Given the description of an element on the screen output the (x, y) to click on. 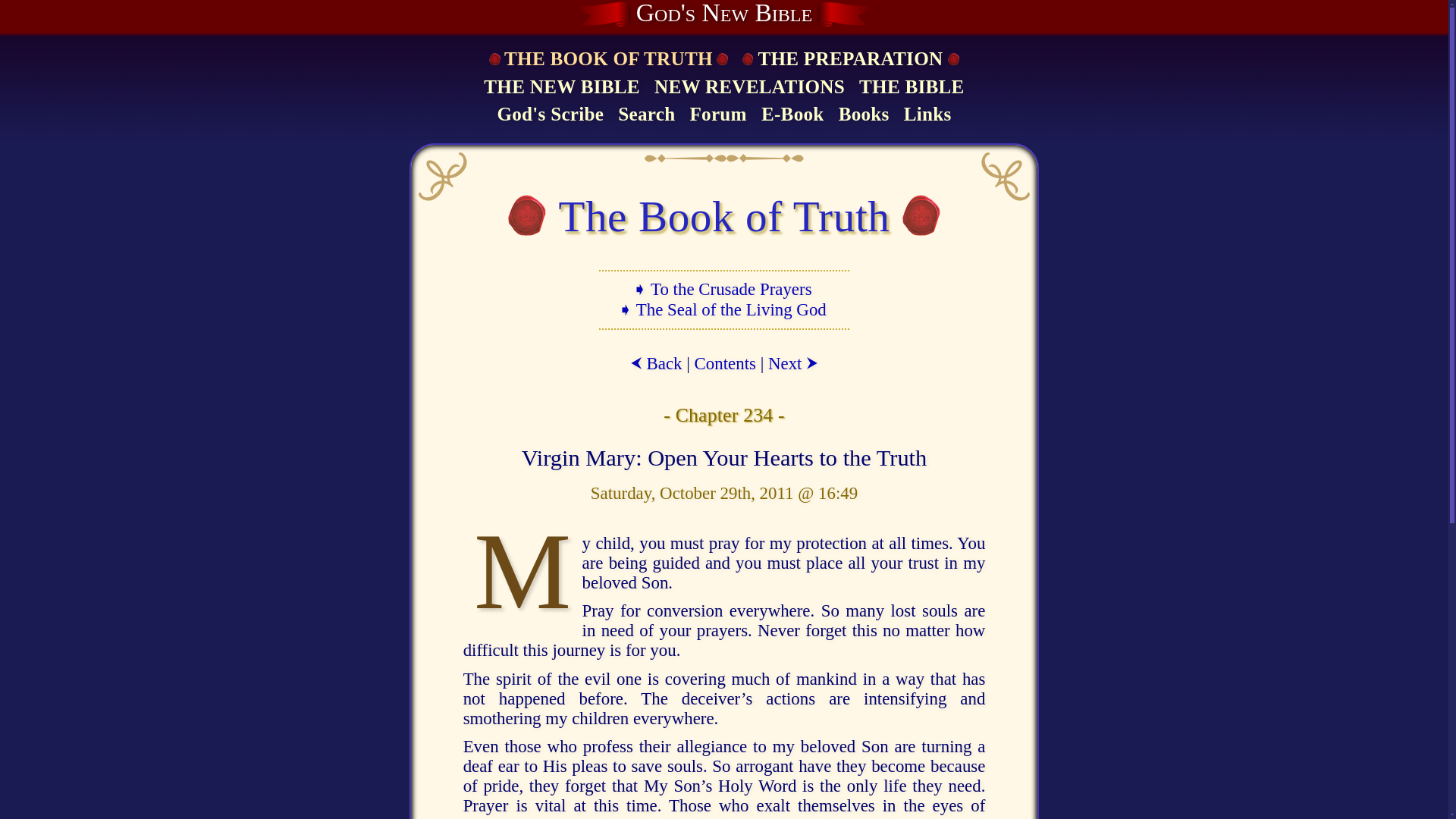
NEW REVELATIONS (749, 87)
Links (927, 114)
God's Scribe (550, 114)
Contents (724, 363)
THE BOOK OF TRUTH (607, 59)
Forum (717, 114)
God's New Bible (724, 14)
THE NEW BIBLE (561, 87)
Books (863, 114)
THE BIBLE (912, 87)
E-Book (792, 114)
Search (646, 114)
